Given the description of an element on the screen output the (x, y) to click on. 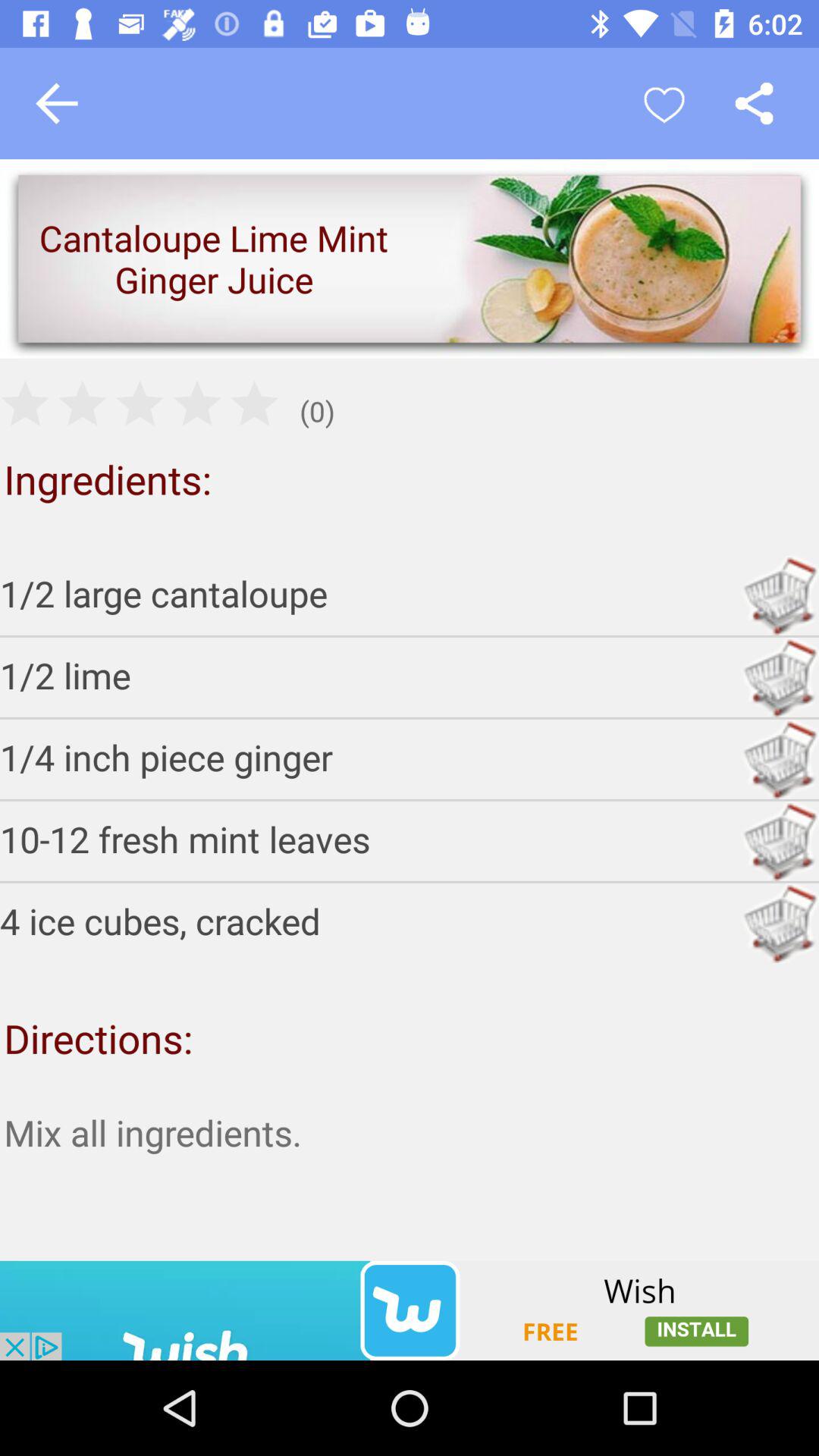
go to previous (56, 103)
